Given the description of an element on the screen output the (x, y) to click on. 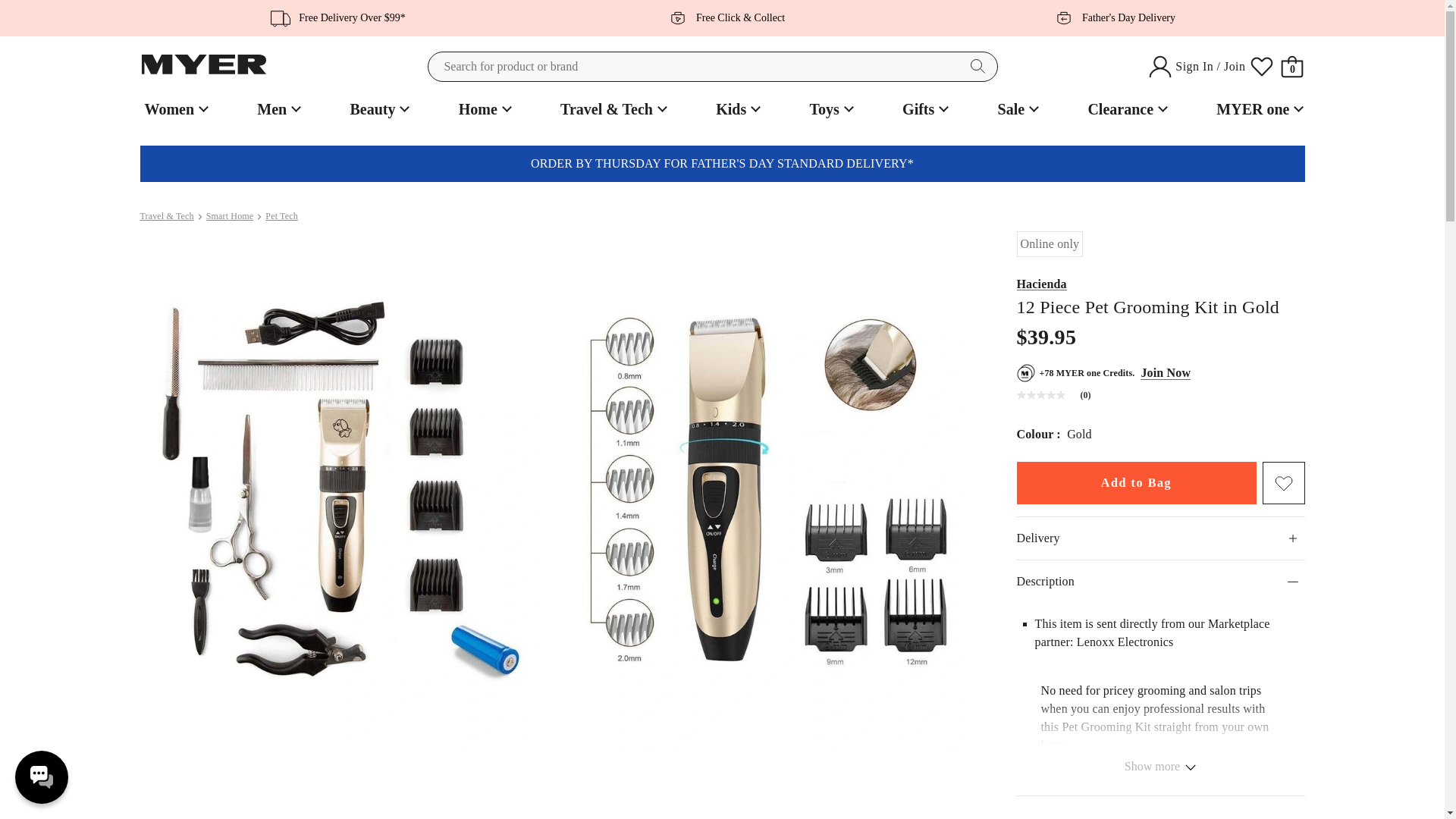
Click here to toggle the virtual assistant (41, 777)
Women (174, 109)
0 (1291, 66)
Father's Day Delivery (1110, 17)
